Given the description of an element on the screen output the (x, y) to click on. 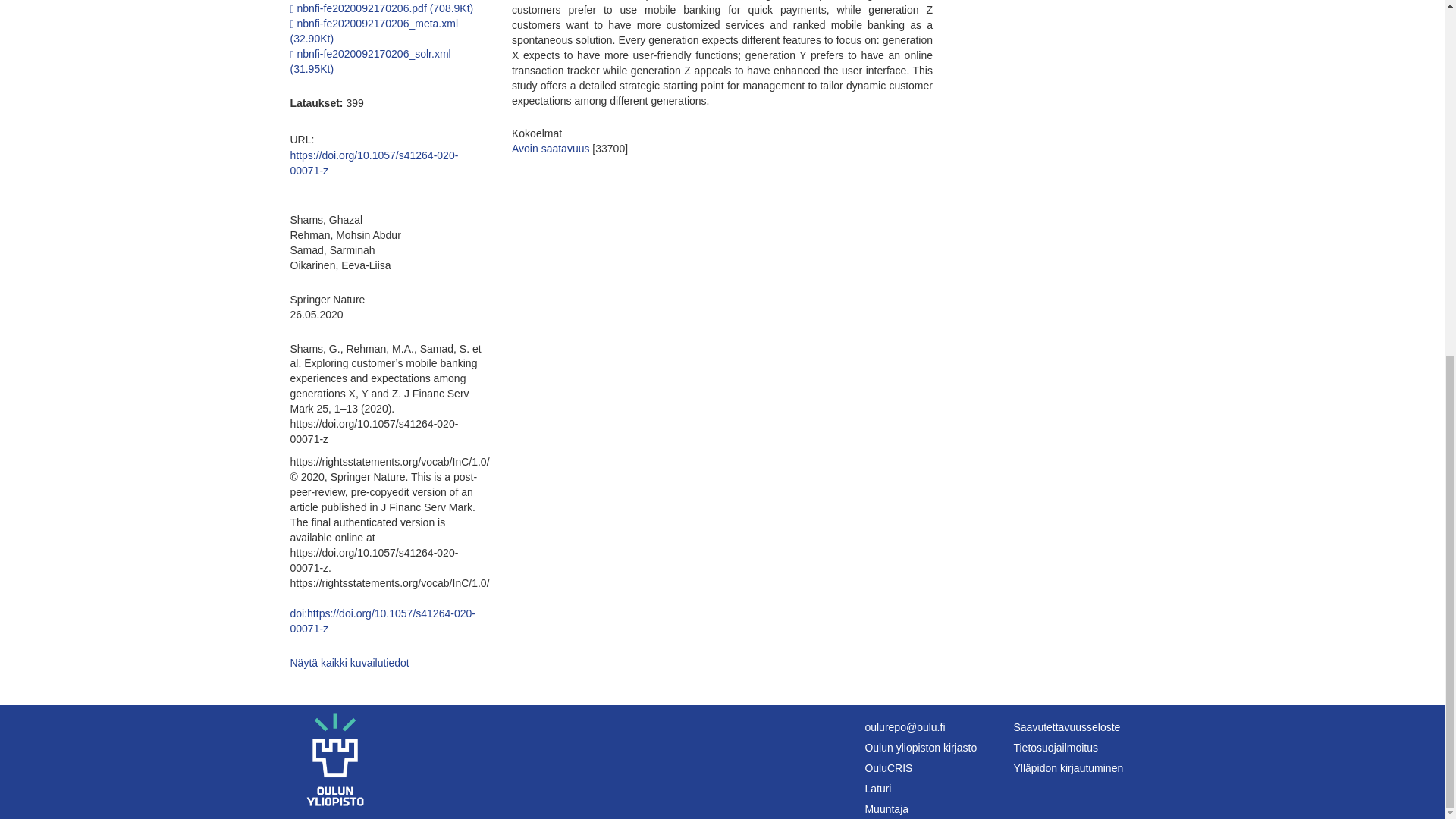
Avoin saatavuus (550, 148)
